Given the description of an element on the screen output the (x, y) to click on. 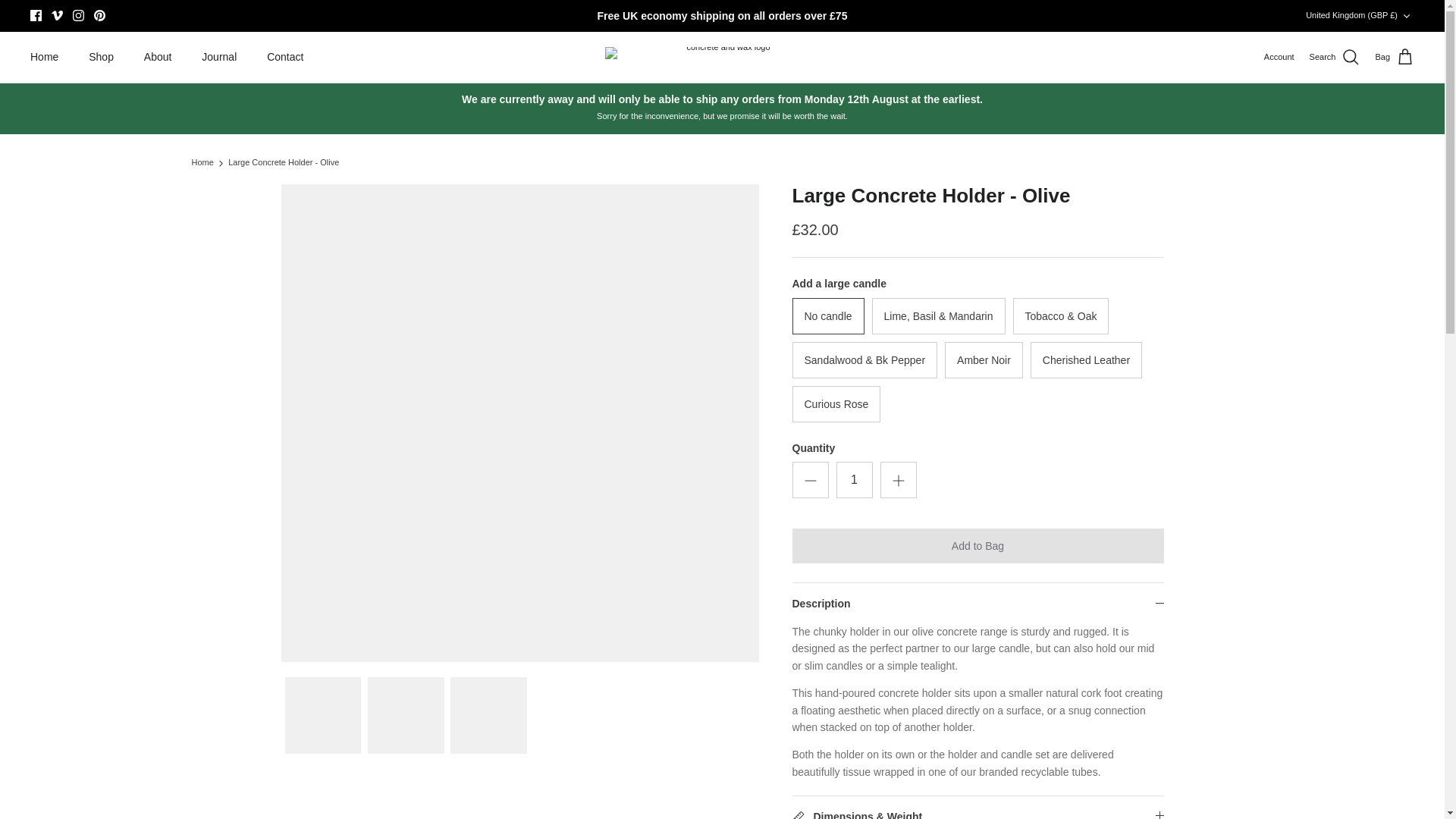
Vimeo (56, 15)
Facebook (36, 15)
1 (853, 479)
Instagram (78, 15)
Pinterest (99, 15)
Down (1406, 15)
Facebook (36, 15)
Instagram (78, 15)
Pinterest (99, 15)
Plus (897, 480)
Vimeo (56, 15)
Minus (809, 480)
